Given the description of an element on the screen output the (x, y) to click on. 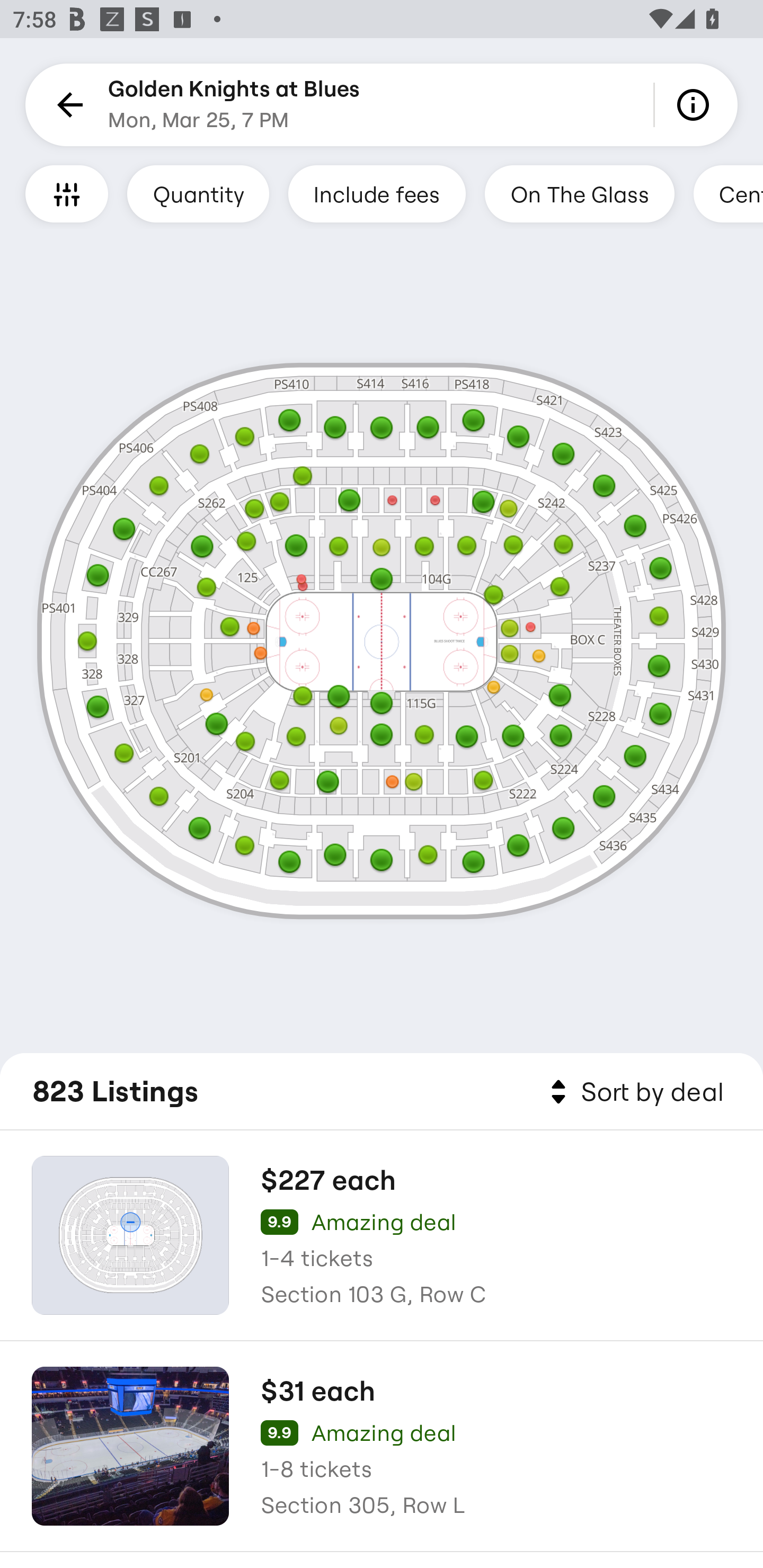
Back (66, 104)
Golden Knights at Blues Mon, Mar 25, 7 PM (234, 104)
Info (695, 104)
Filters and Accessible Seating (66, 193)
Quantity (198, 193)
Include fees (376, 193)
On The Glass (579, 193)
Sort by deal (633, 1091)
